Given the description of an element on the screen output the (x, y) to click on. 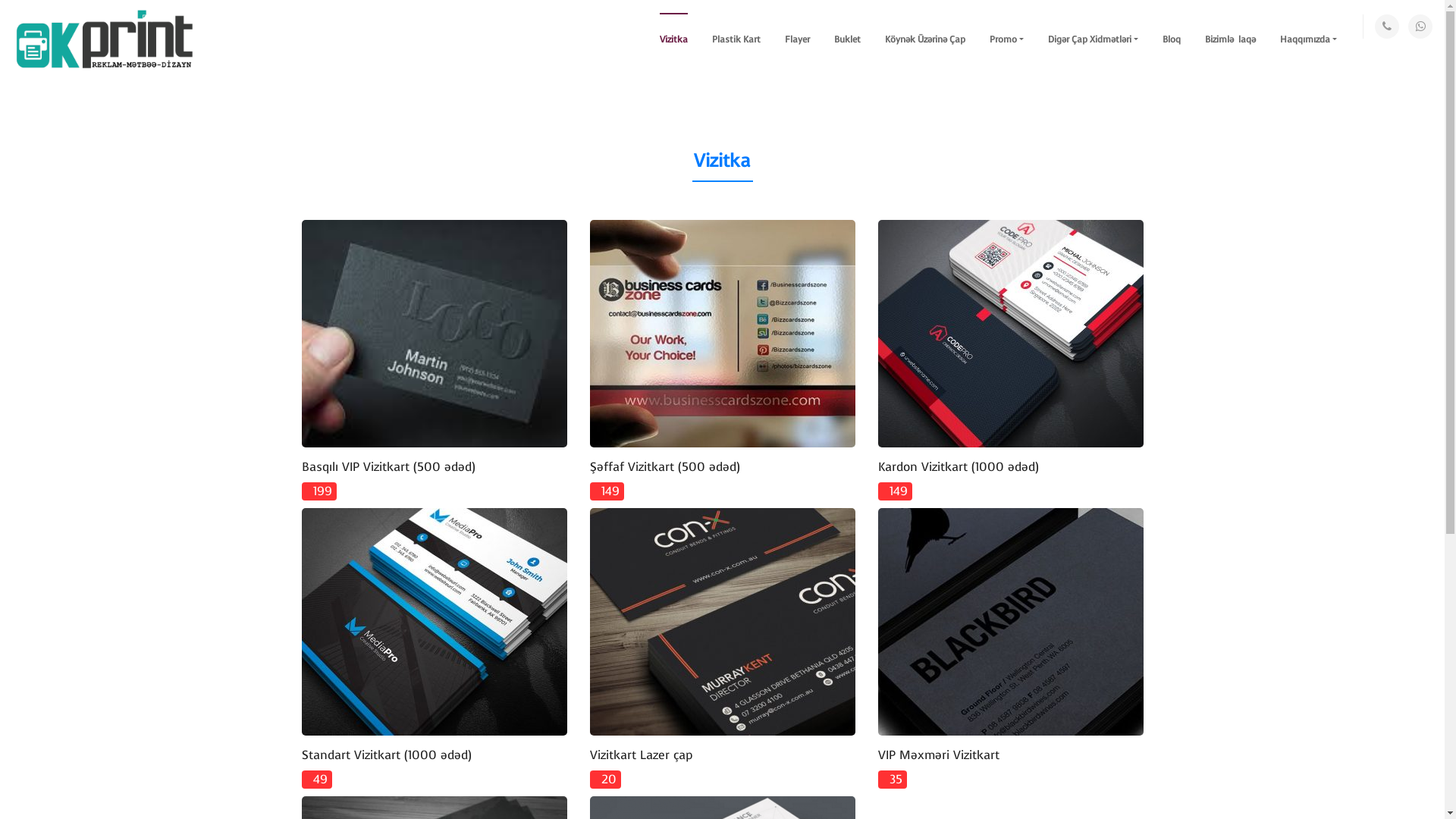
Buklet Element type: text (847, 38)
Promo Element type: text (1006, 38)
Flayer Element type: text (796, 38)
Vizitka Element type: text (673, 38)
Plastik Kart Element type: text (736, 38)
Bloq Element type: text (1171, 38)
Vizitka Element type: text (721, 160)
